Given the description of an element on the screen output the (x, y) to click on. 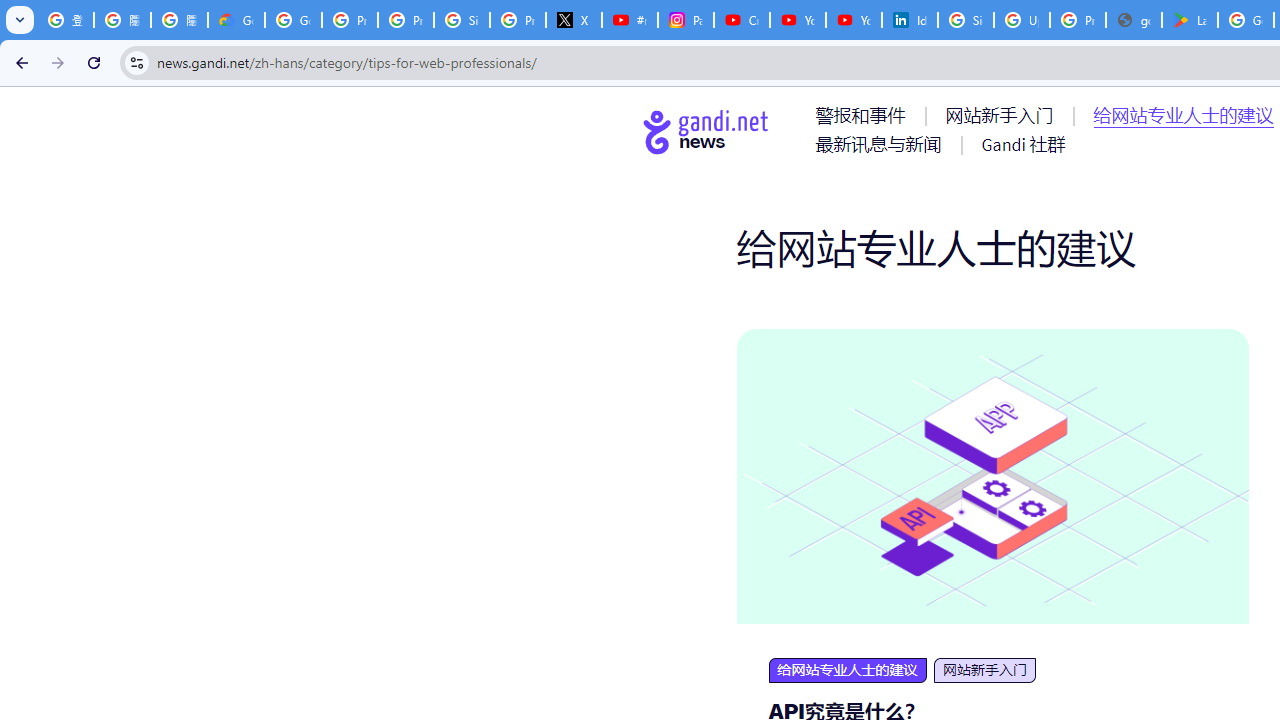
Sign in - Google Accounts (461, 20)
AutomationID: menu-item-77761 (863, 115)
AutomationID: menu-item-77766 (882, 143)
